Given the description of an element on the screen output the (x, y) to click on. 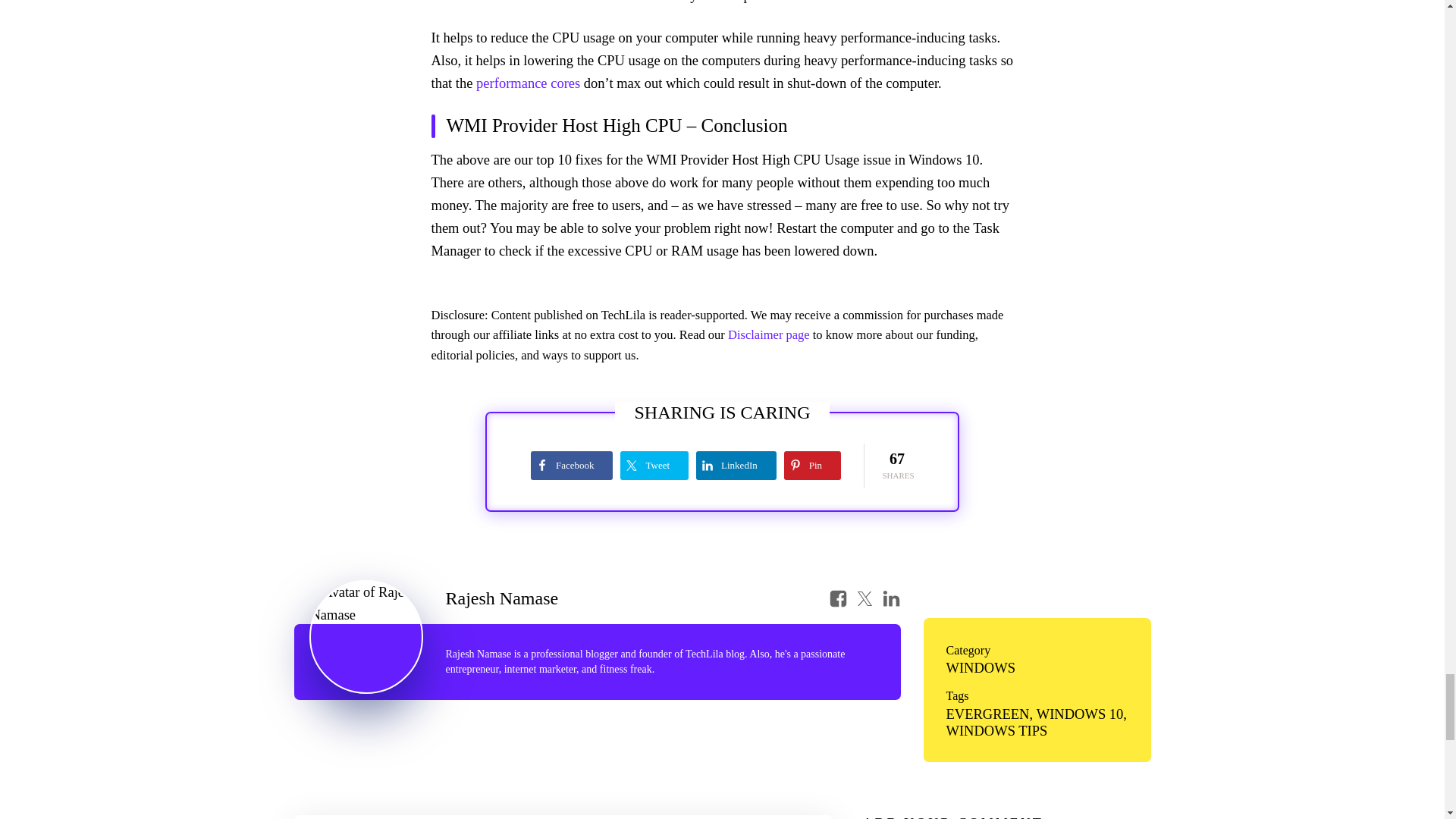
Avatar of Rajesh Namase (366, 636)
Share on Pinterest (812, 465)
Share on Twitter (654, 465)
Share on LinkedIn (735, 465)
Share on Facebook (571, 465)
